Given the description of an element on the screen output the (x, y) to click on. 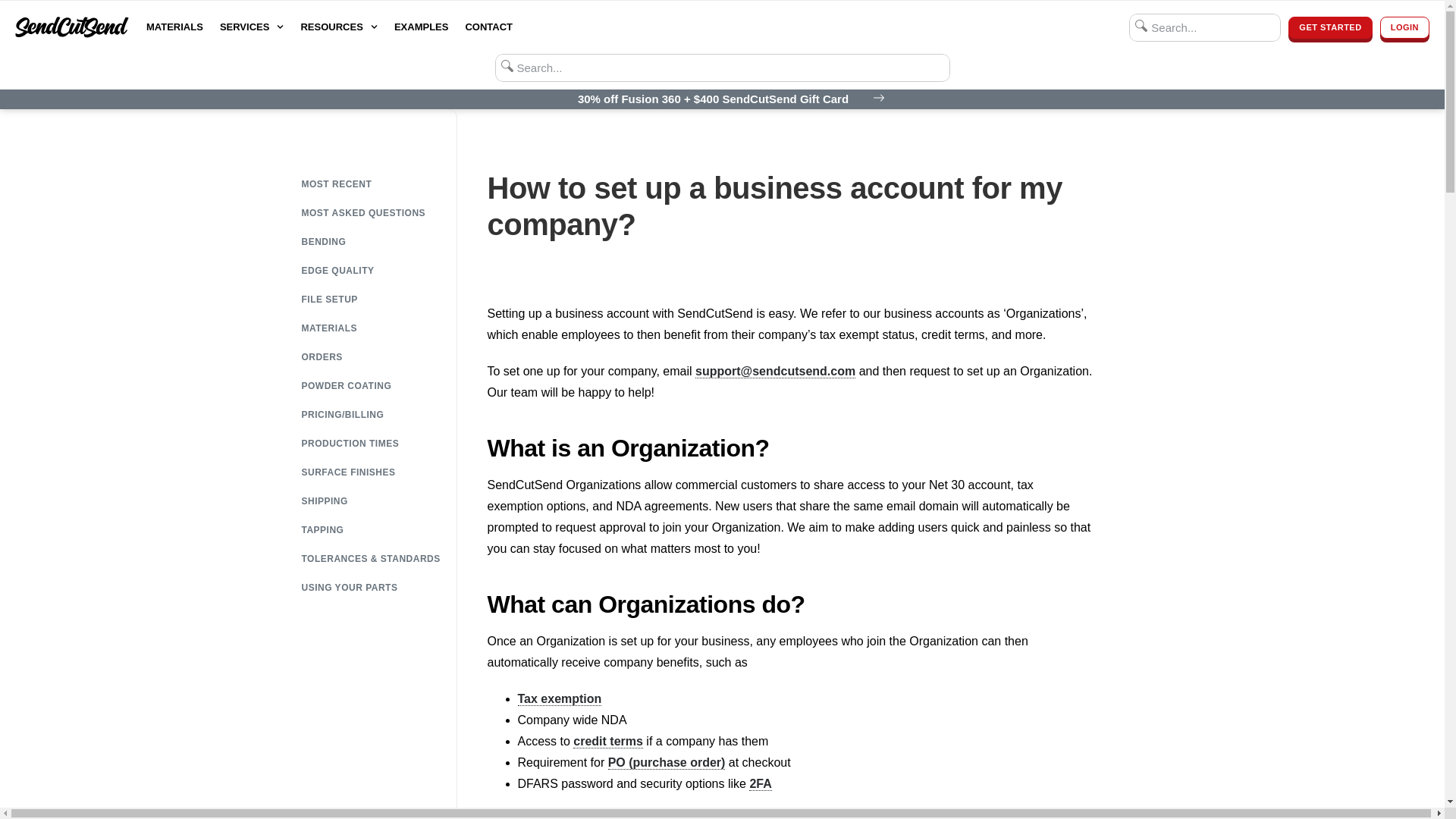
MATERIALS (175, 27)
Search (722, 67)
SERVICES (251, 27)
Search (1205, 27)
